Given the description of an element on the screen output the (x, y) to click on. 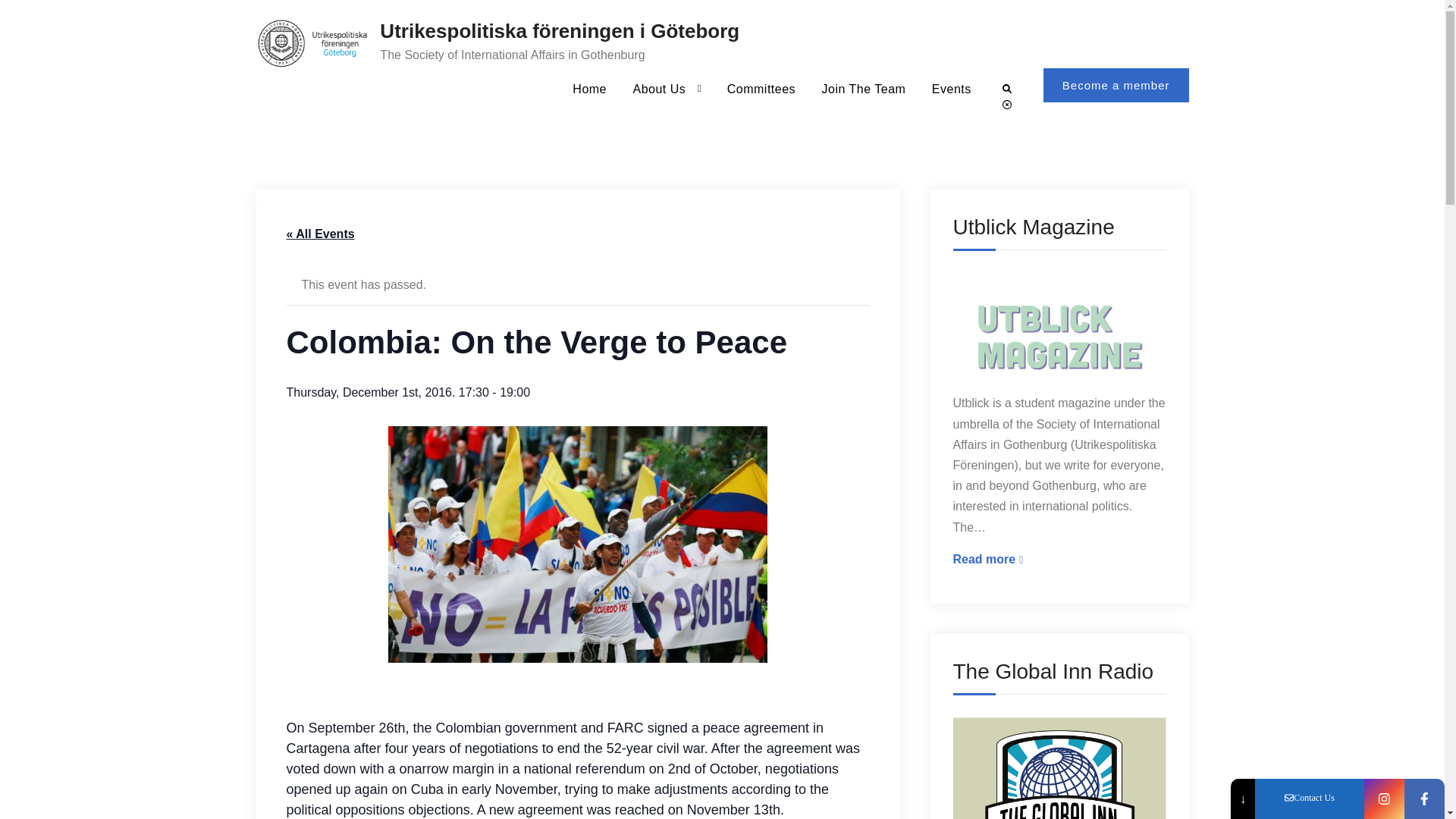
Home (588, 88)
Join The Team (863, 88)
Become a member (1116, 85)
Committees (1059, 558)
Search (761, 88)
Events (1007, 89)
About Us (951, 88)
